Given the description of an element on the screen output the (x, y) to click on. 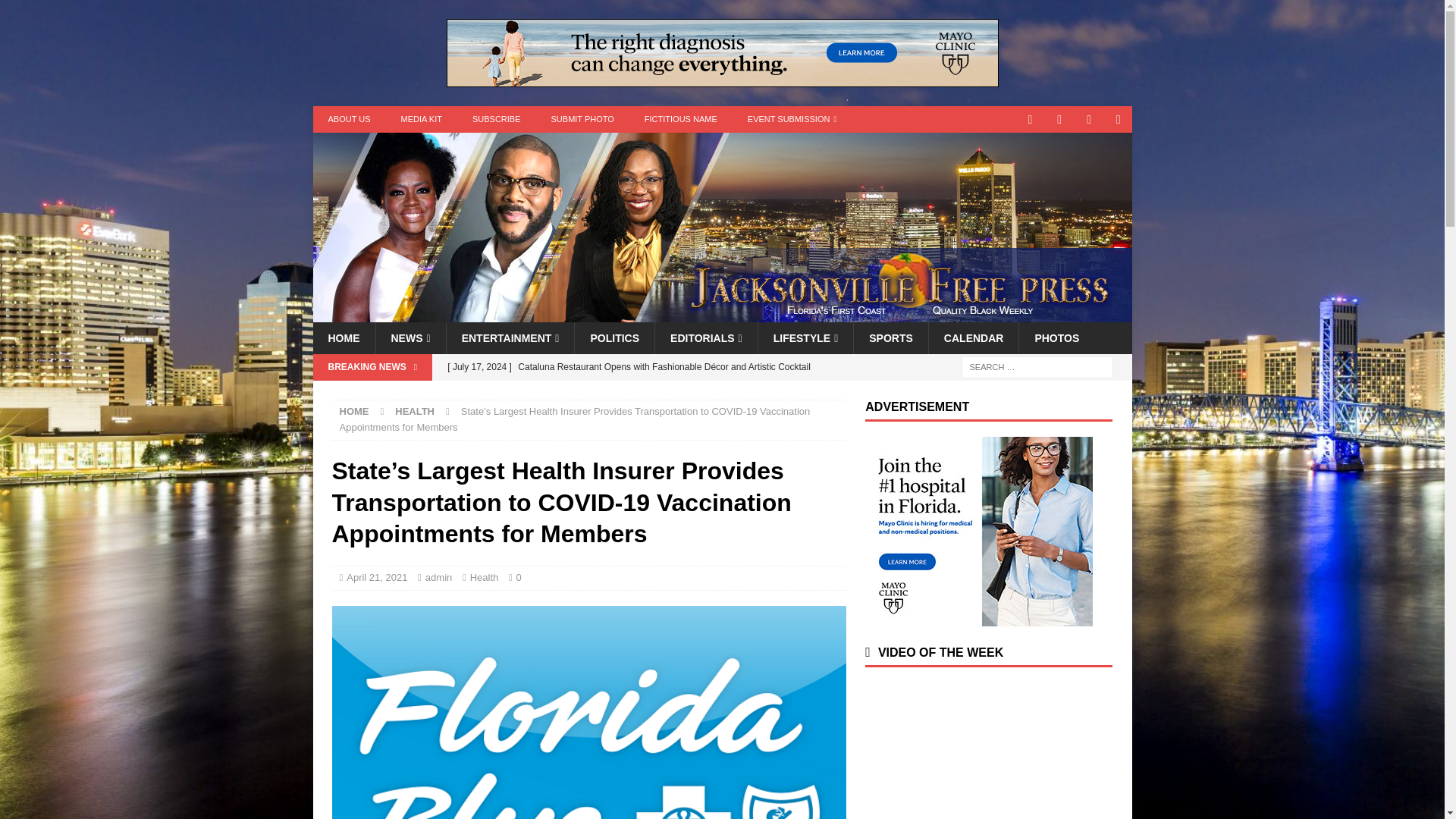
twitter (1059, 119)
Facebook (1088, 119)
ABOUT US (349, 119)
SUBMIT PHOTO (581, 119)
EVENT SUBMISSION (791, 119)
contact (1029, 119)
rss (1118, 119)
FICTITIOUS NAME (680, 119)
MEDIA KIT (421, 119)
SUBSCRIBE (496, 119)
Free Press of Jacksonville (722, 313)
